Given the description of an element on the screen output the (x, y) to click on. 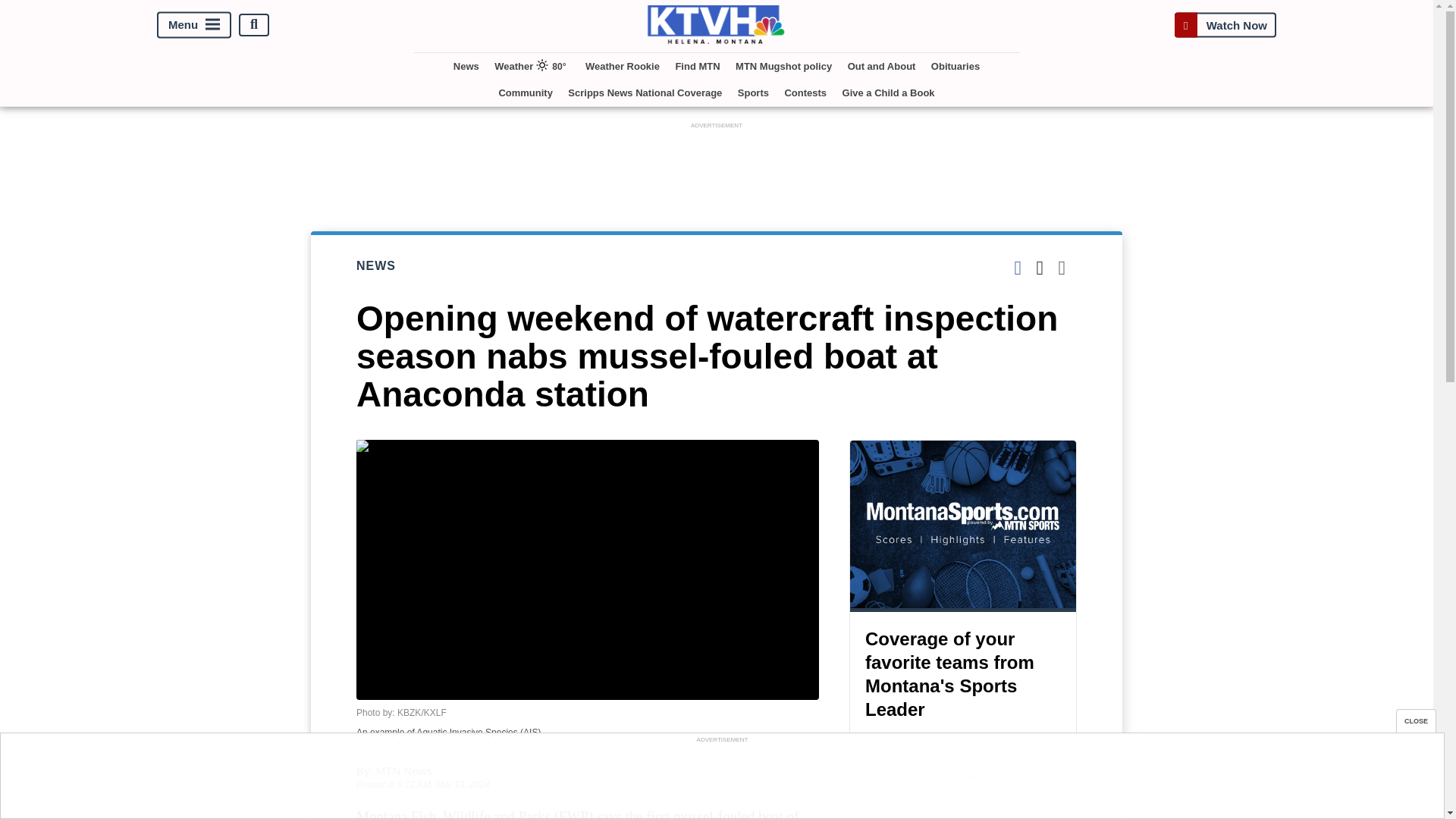
3rd party ad content (716, 166)
Menu (194, 24)
3rd party ad content (721, 780)
3rd party ad content (962, 800)
Watch Now (1224, 24)
